Given the description of an element on the screen output the (x, y) to click on. 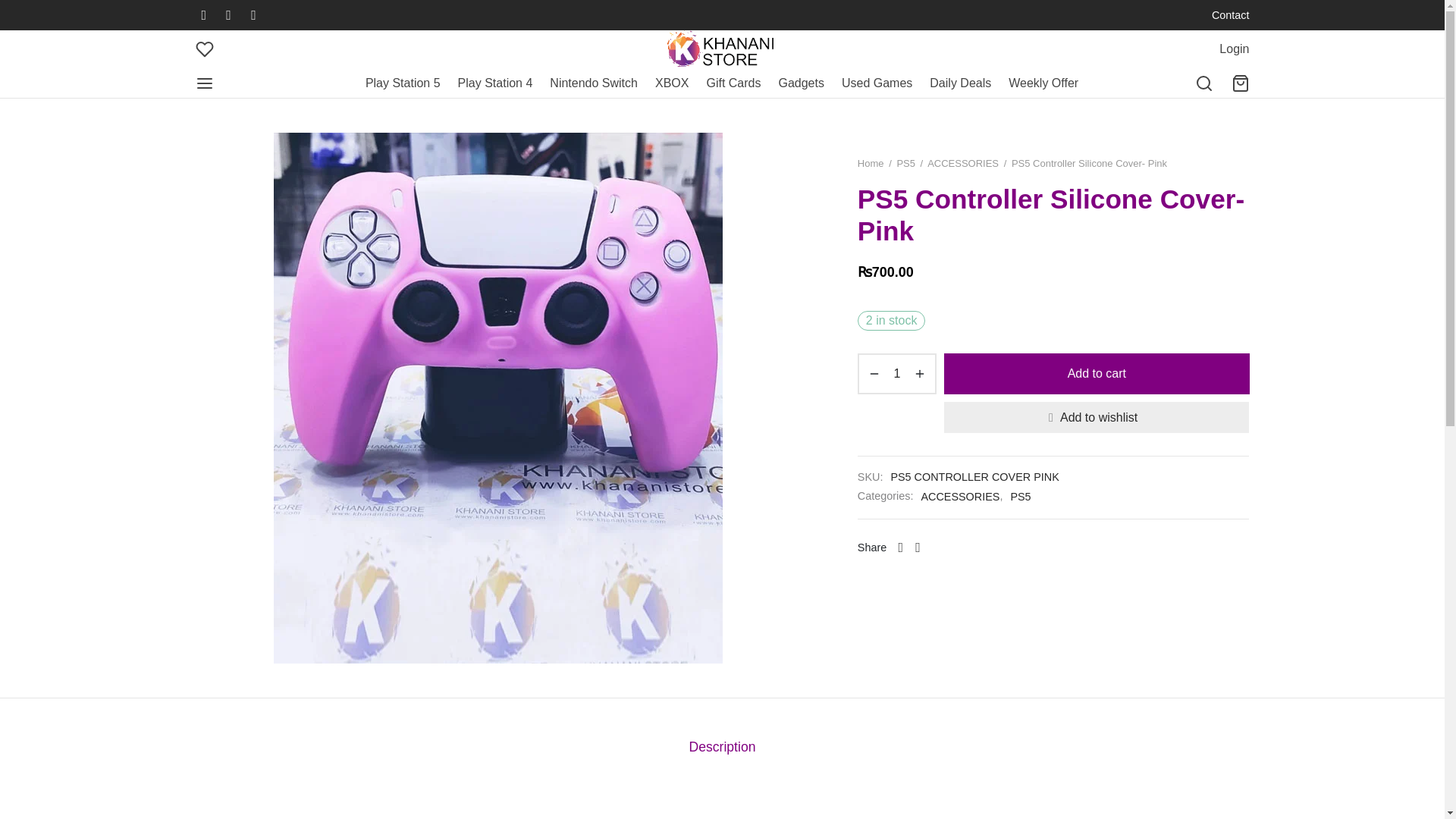
XBOX (671, 83)
Daily Deals (960, 83)
Login (1234, 48)
Cart (1240, 83)
Play Station 4 (495, 83)
Nintendo Switch (593, 83)
Contact (1230, 14)
Gift Cards (733, 83)
Used Games (876, 83)
Gadgets (800, 83)
Weekly Offer (1043, 83)
1 (896, 373)
Play Station 5 (403, 83)
